Given the description of an element on the screen output the (x, y) to click on. 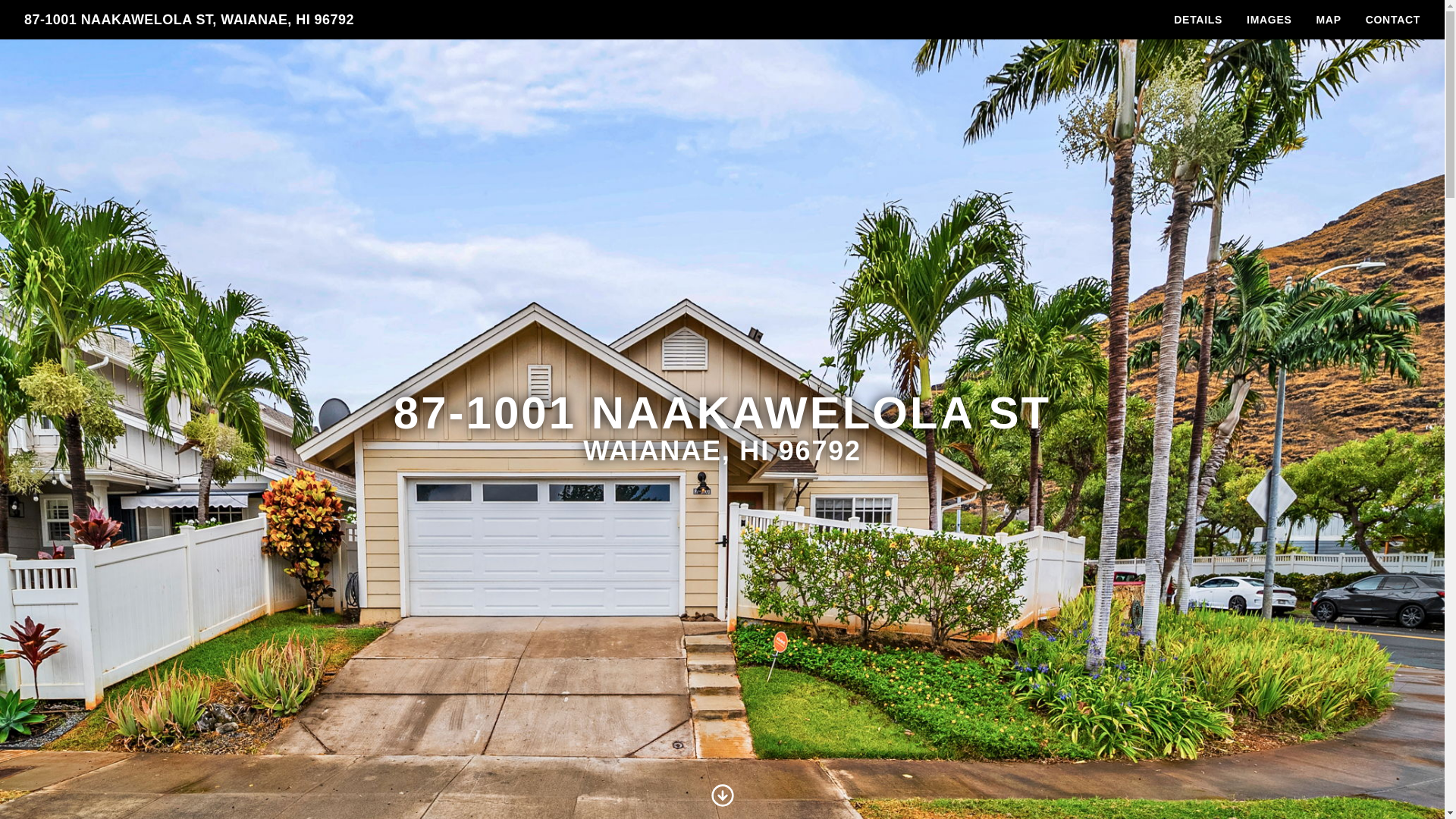
87-1001 NAAKAWELOLA ST, WAIANAE, HI 96792 (188, 19)
Back to the Top (188, 19)
MAP (1327, 19)
CONTACT (1393, 19)
IMAGES (1268, 19)
DETAILS (1197, 19)
